Given the description of an element on the screen output the (x, y) to click on. 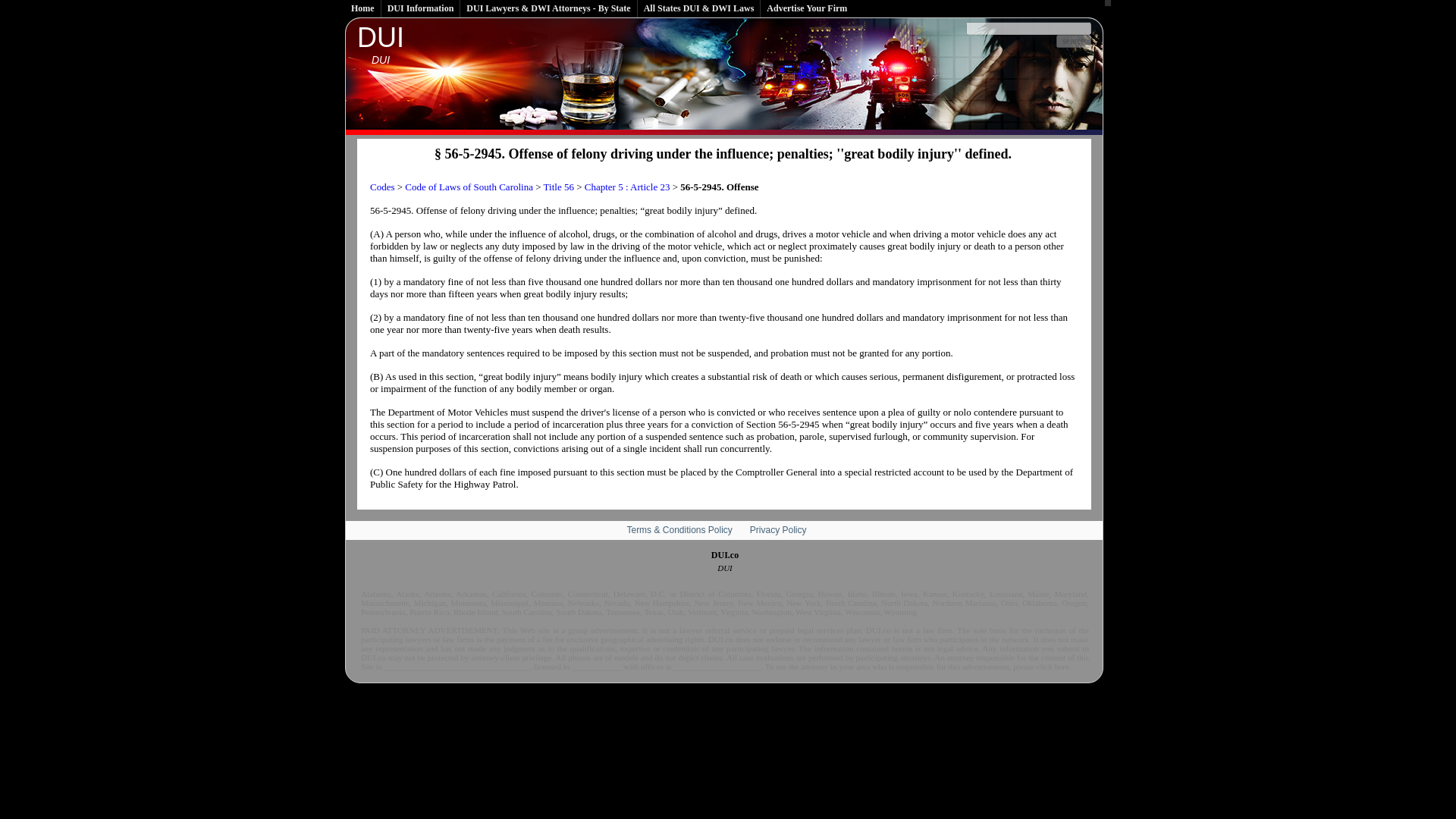
Home (363, 8)
Home (380, 44)
Privacy Policy (777, 529)
DUI Information (421, 8)
search (1073, 41)
